Given the description of an element on the screen output the (x, y) to click on. 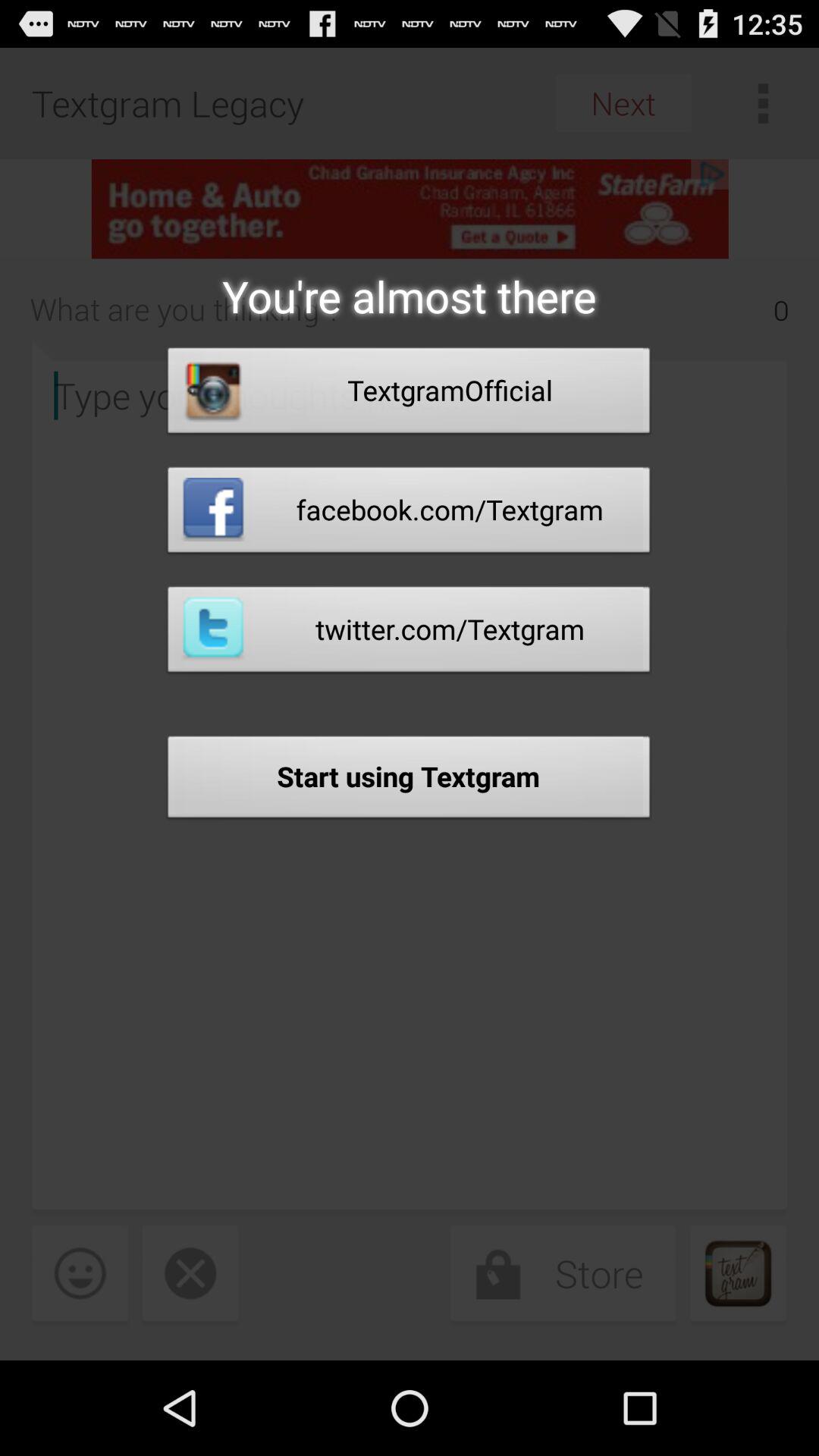
scroll to the textgramofficial (409, 394)
